Given the description of an element on the screen output the (x, y) to click on. 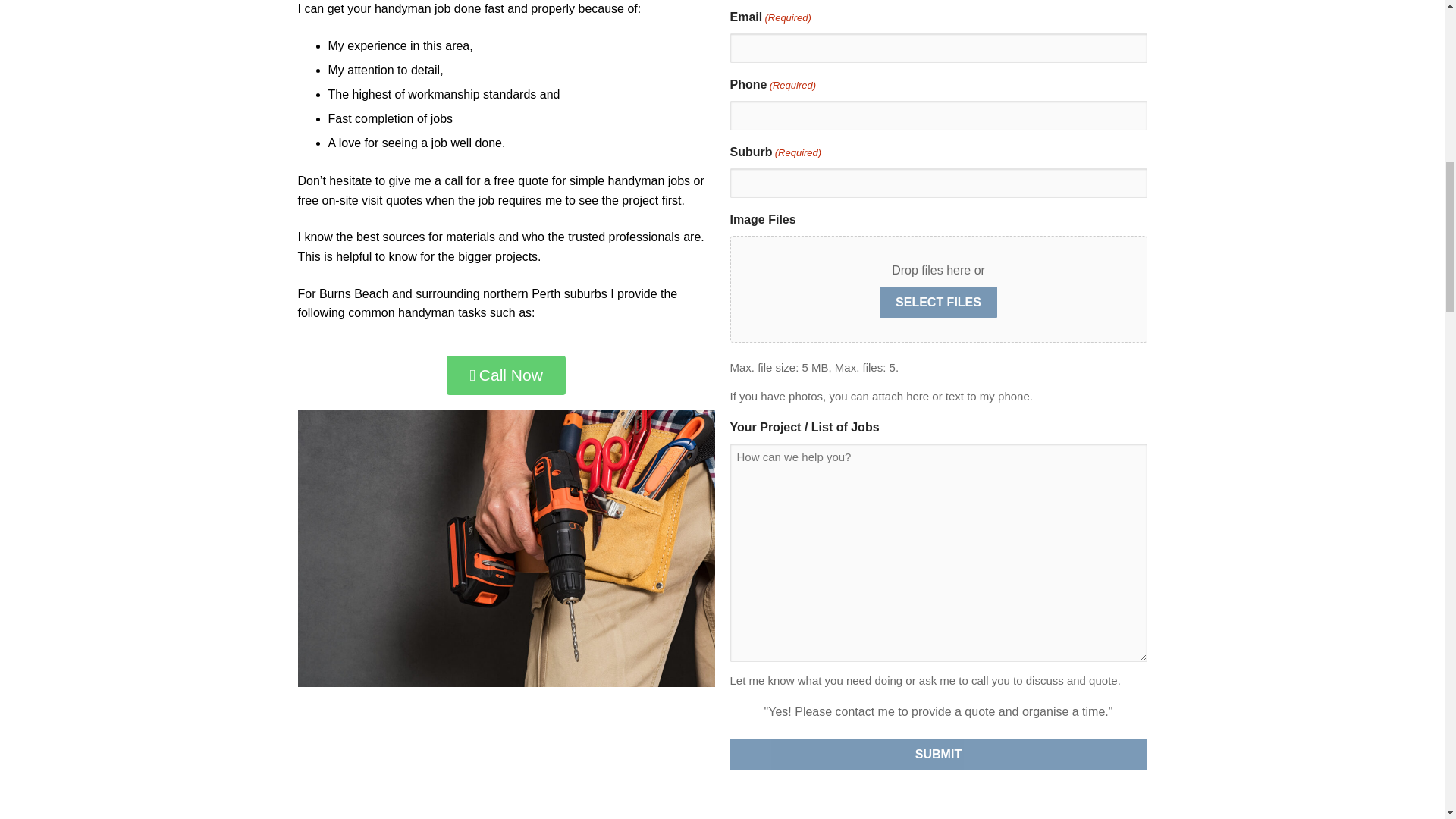
SELECT FILES (938, 302)
Submit (938, 754)
Call Now (506, 374)
Submit (938, 754)
